Given the description of an element on the screen output the (x, y) to click on. 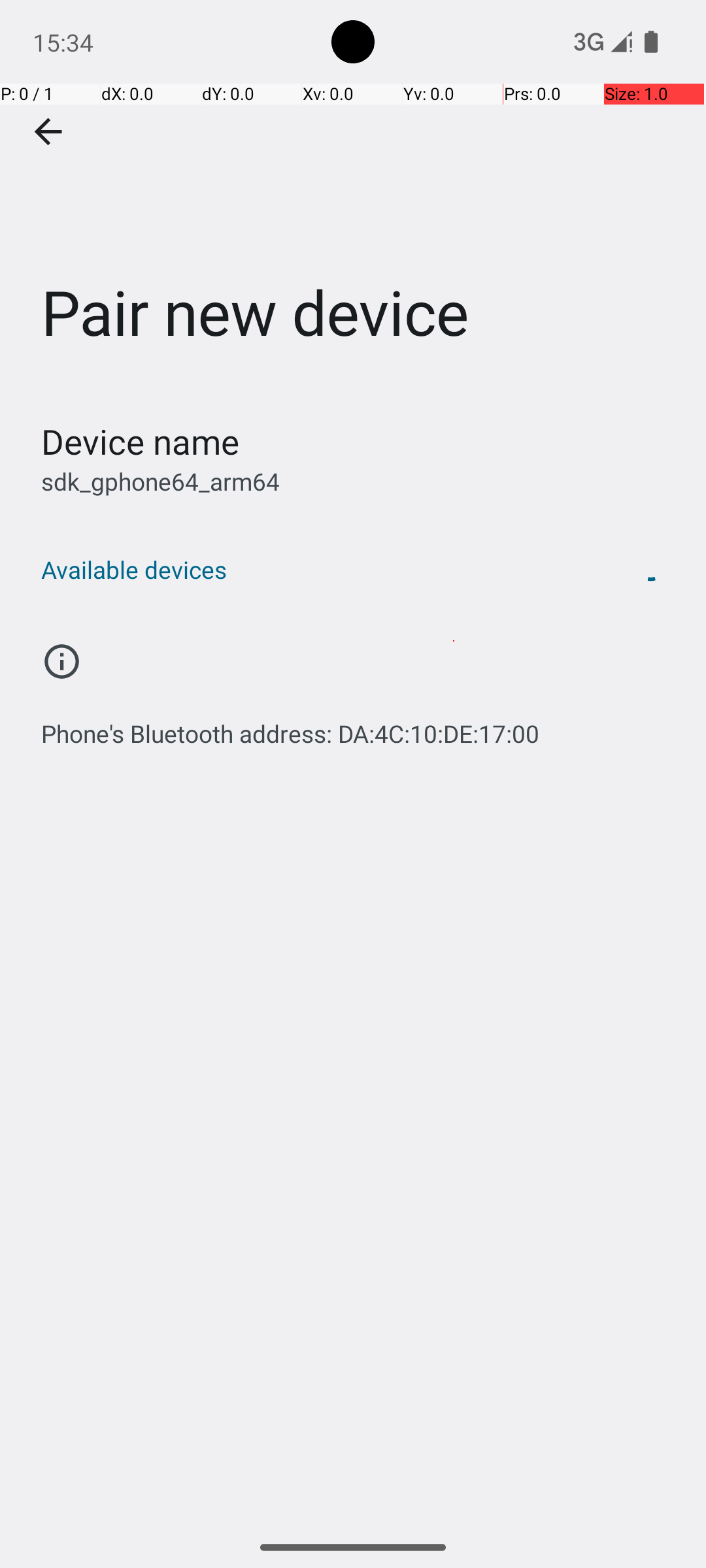
Pair new device Element type: android.widget.FrameLayout (353, 195)
Device name Element type: android.widget.TextView (140, 441)
Available devices Element type: android.widget.TextView (318, 569)
Phone's Bluetooth address: DA:4C:10:DE:17:00 Element type: android.widget.TextView (290, 726)
